Given the description of an element on the screen output the (x, y) to click on. 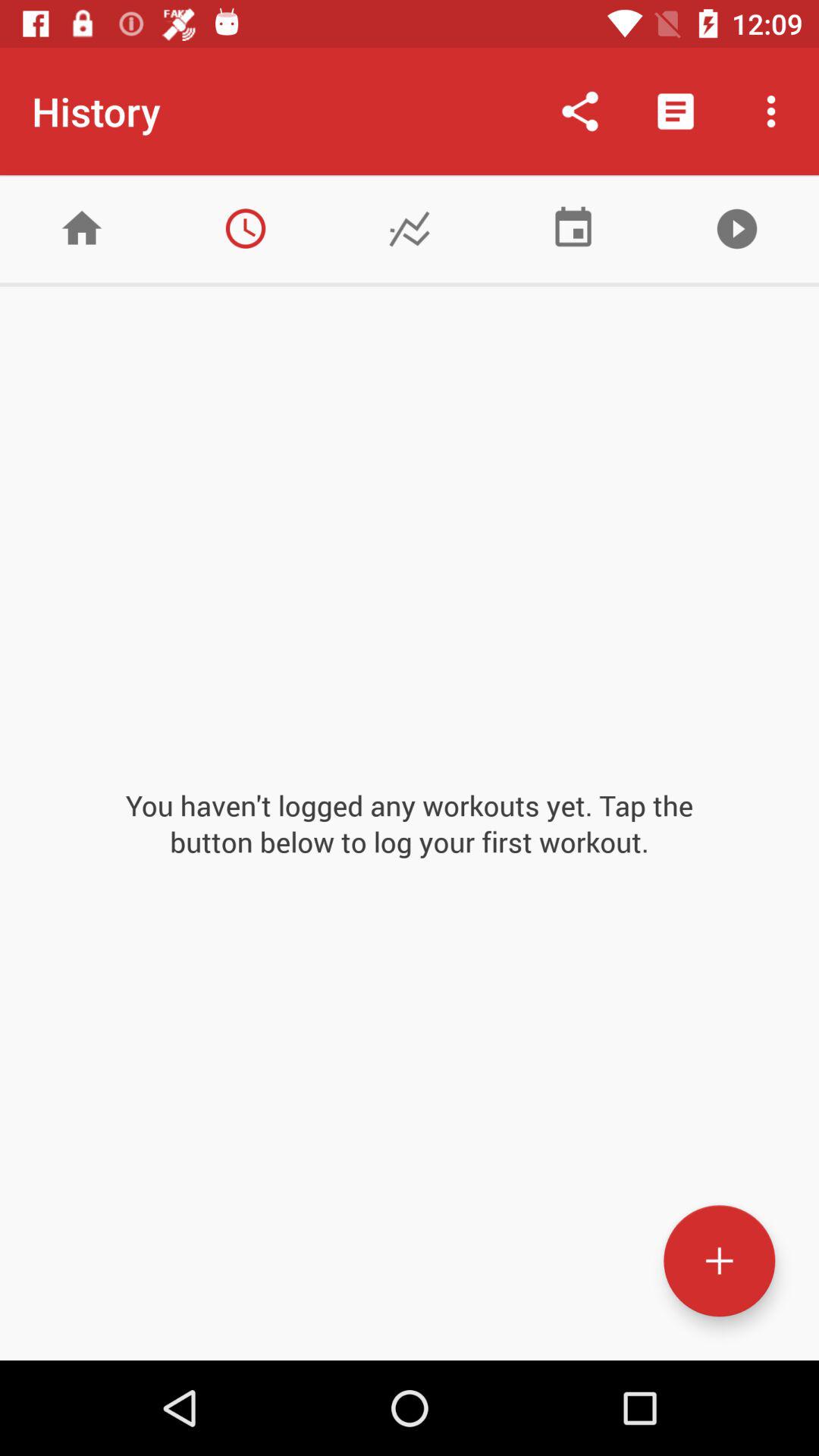
the button is used to view the playlist (737, 228)
